Given the description of an element on the screen output the (x, y) to click on. 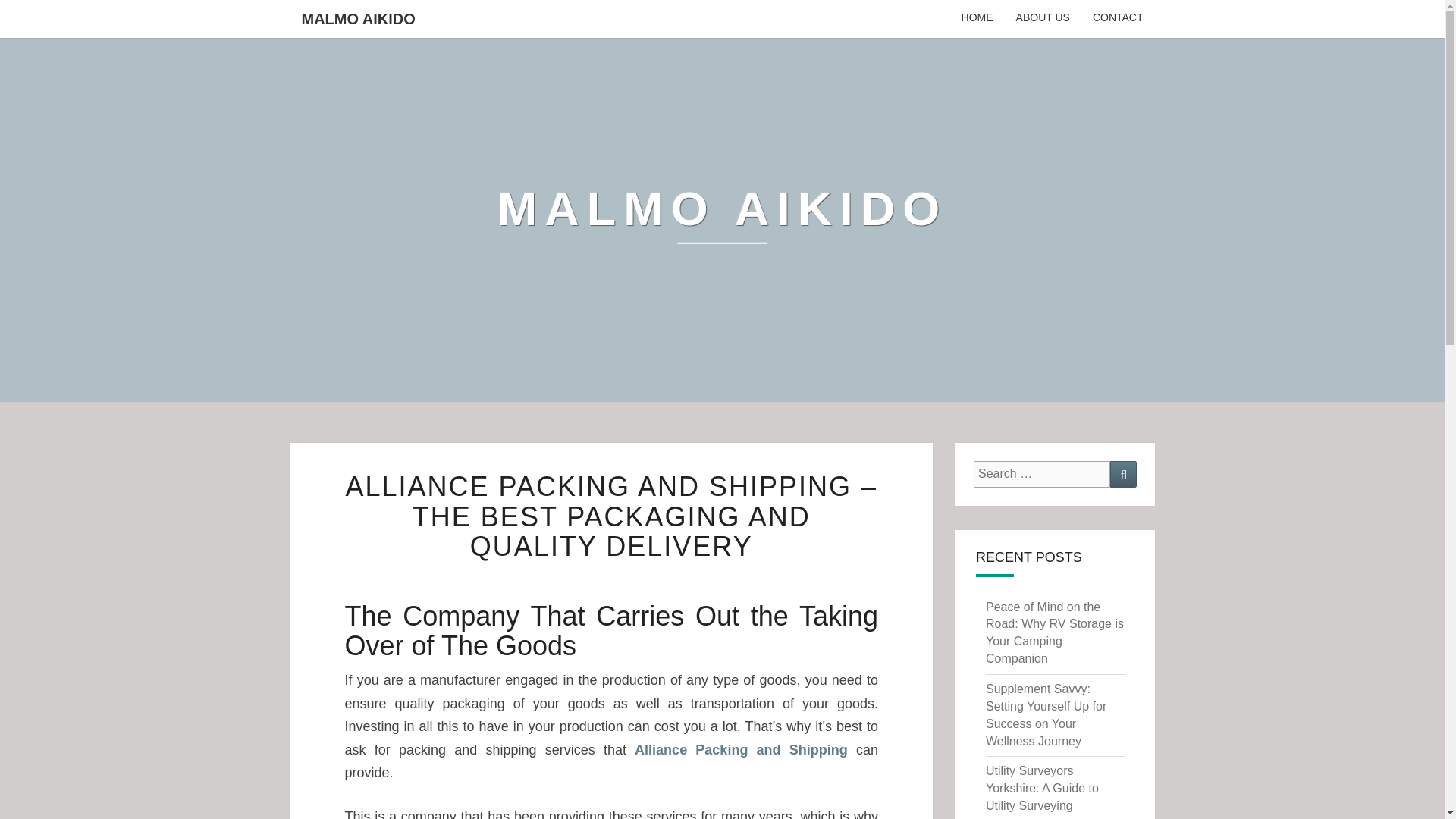
Utility Surveyors Yorkshire: A Guide to Utility Surveying (1042, 788)
ABOUT US (1042, 18)
HOME (977, 18)
Malmo Aikido (722, 219)
Alliance Packing and Shipping (740, 749)
MALMO AIKIDO (357, 18)
Search for: (1041, 474)
Search (1123, 474)
CONTACT (1117, 18)
MALMO AIKIDO (722, 219)
